Given the description of an element on the screen output the (x, y) to click on. 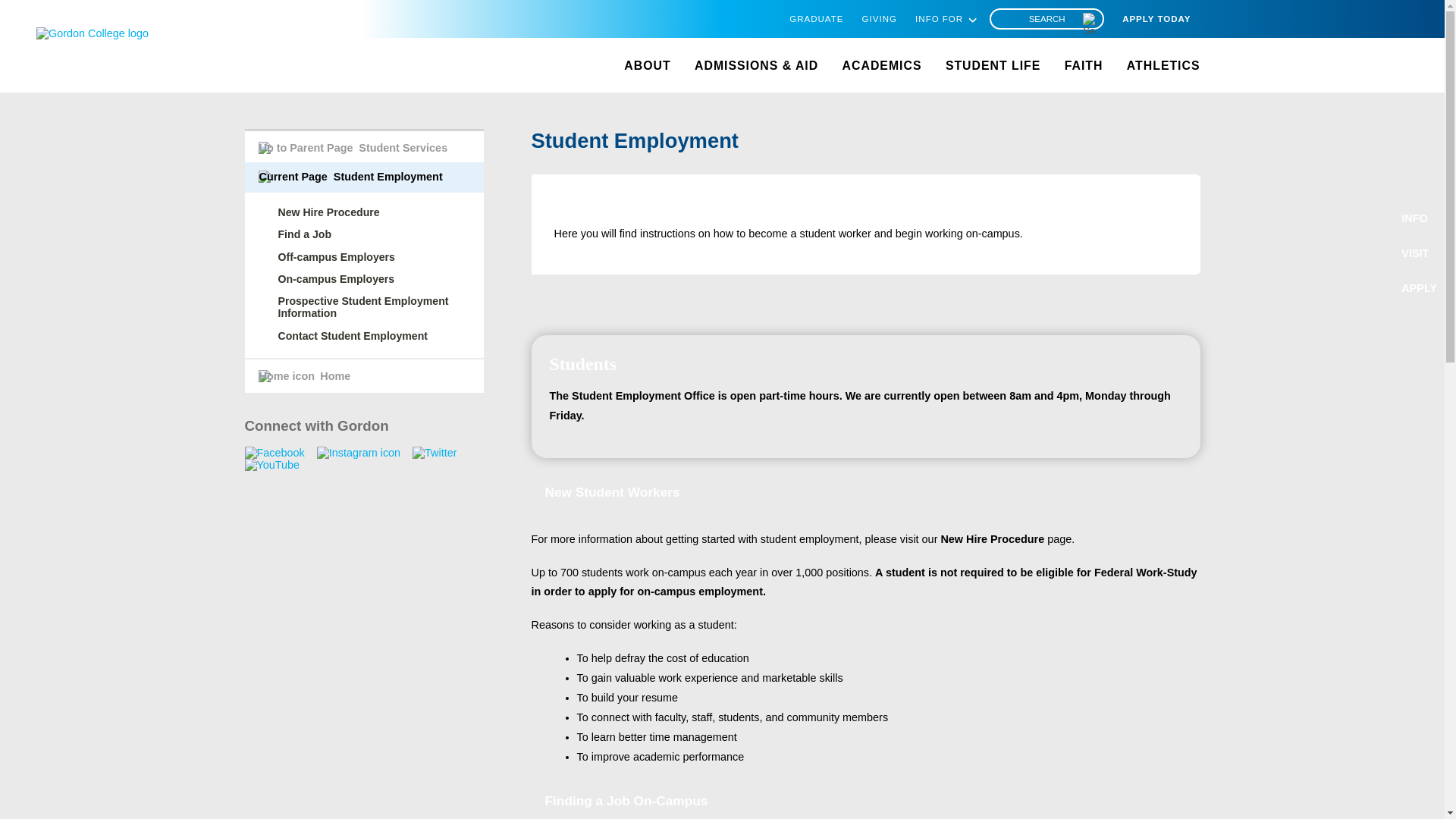
STUDENT LIFE (992, 65)
FAITH (1083, 65)
ATHLETICS (1162, 65)
ABOUT (646, 65)
Contact Student Employment (353, 336)
Student Services (351, 147)
New Hire Procedure (328, 212)
Off-campus Employers (336, 256)
ACADEMICS (882, 65)
Student Employment (349, 176)
GIVING (878, 18)
Prospective Student Employment Information (363, 306)
GRADUATE (816, 18)
INFO FOR (938, 18)
New Hire Procedure (991, 539)
